Given the description of an element on the screen output the (x, y) to click on. 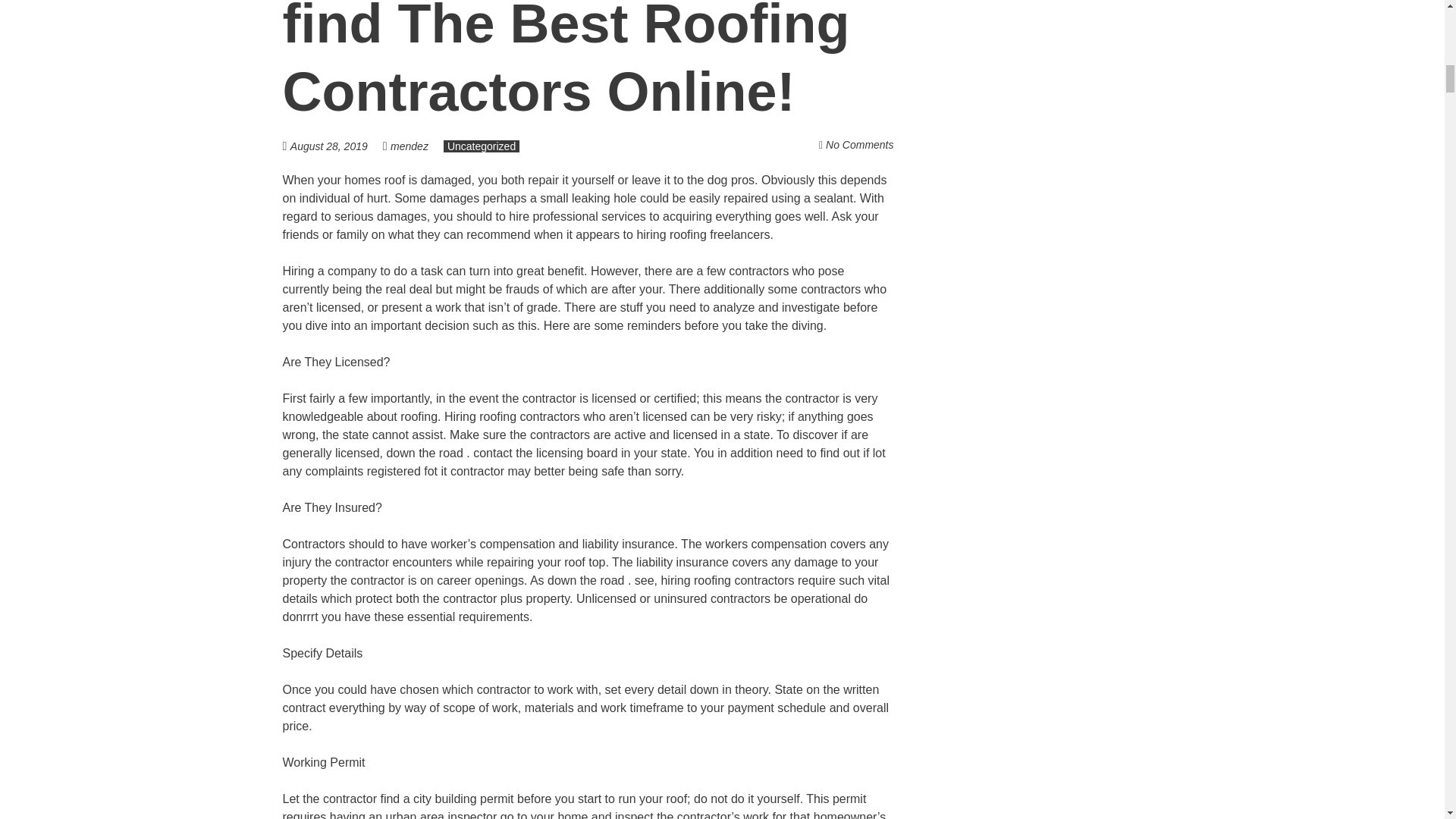
No Comments (859, 144)
August 28, 2019 (335, 145)
mendez (409, 146)
Uncategorized (481, 146)
